Given the description of an element on the screen output the (x, y) to click on. 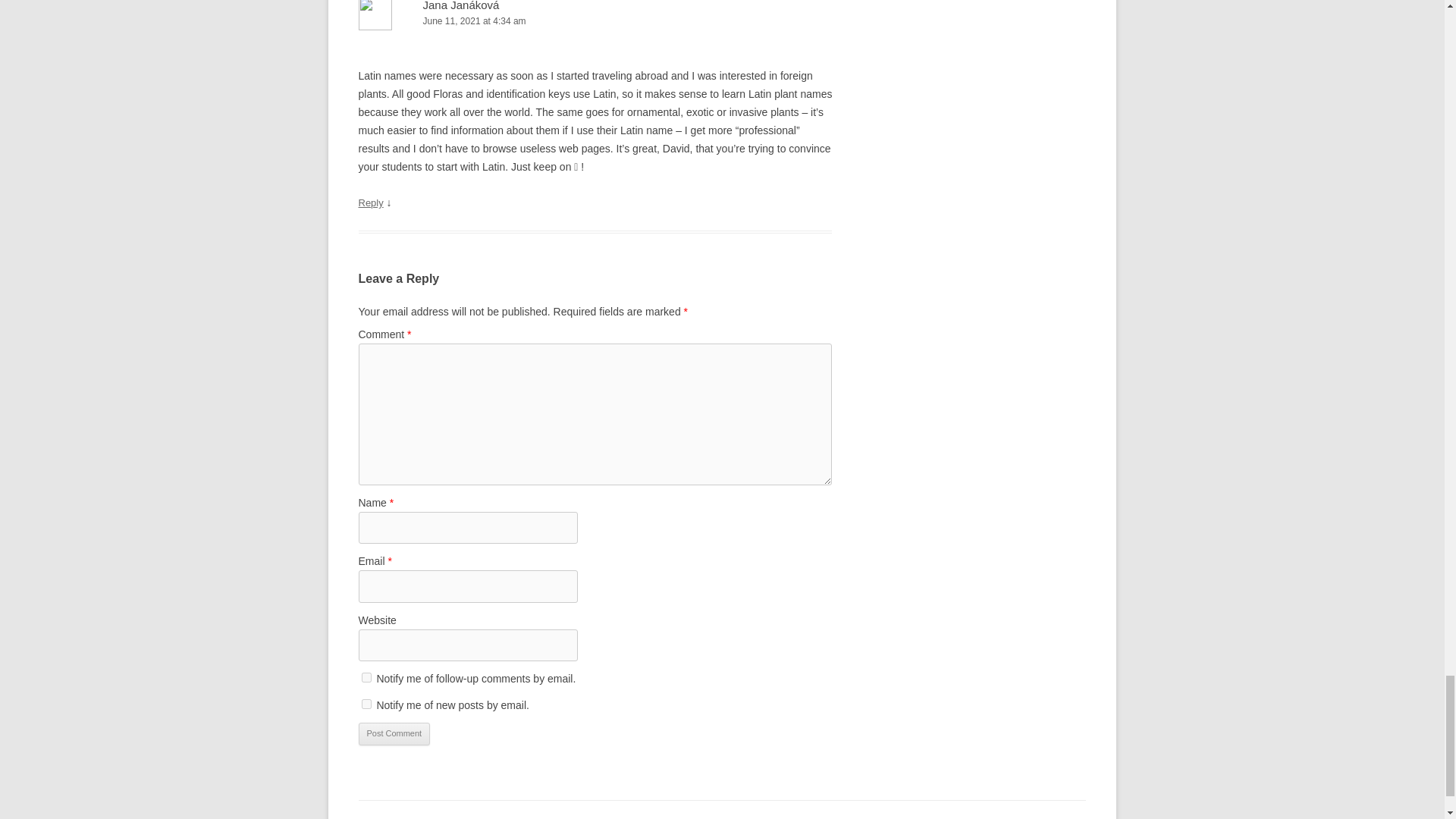
subscribe (366, 704)
Post Comment (393, 733)
June 11, 2021 at 4:34 am (594, 21)
Reply (370, 202)
Post Comment (393, 733)
subscribe (366, 677)
